Given the description of an element on the screen output the (x, y) to click on. 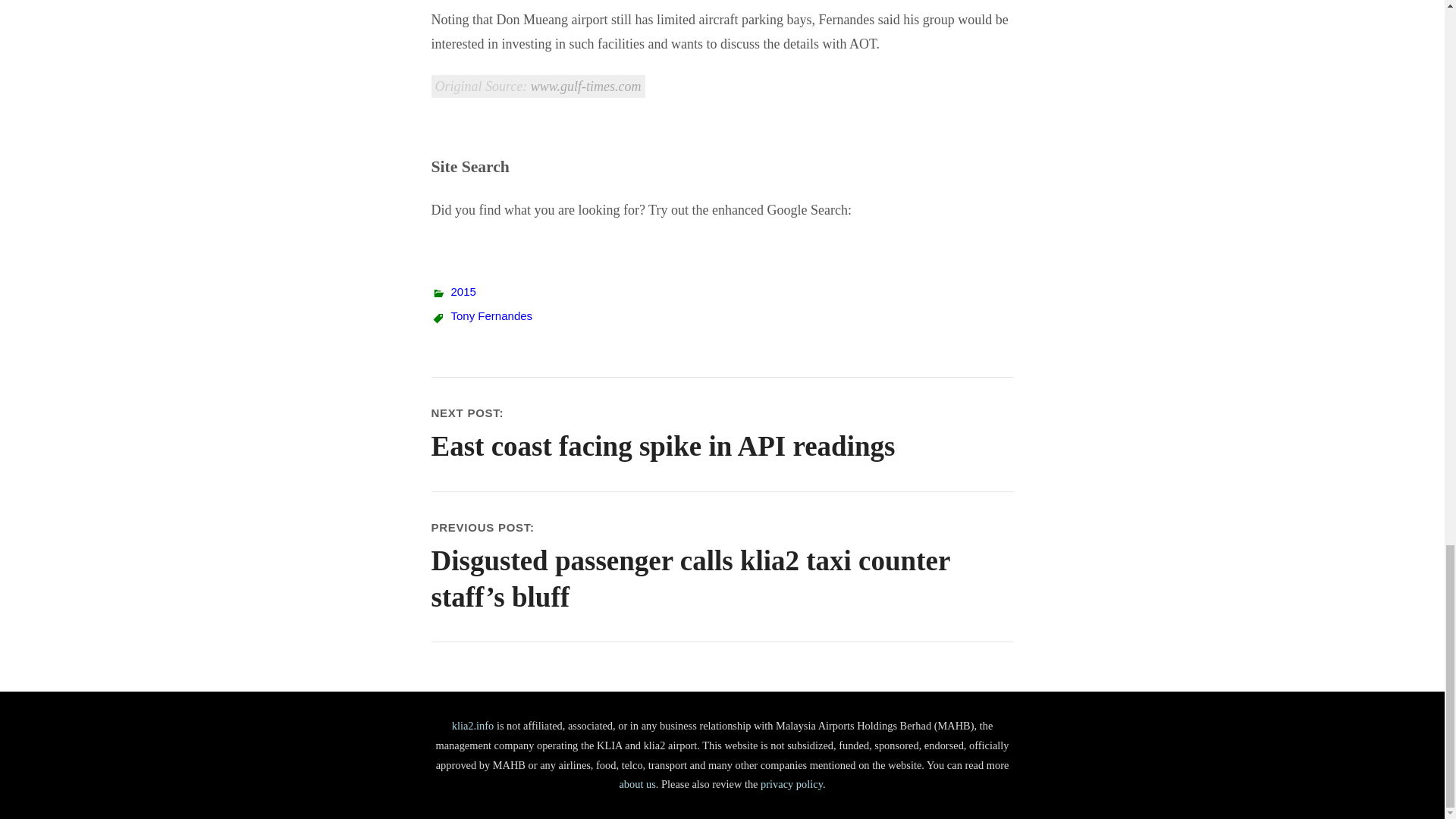
2015 (462, 291)
privacy policy (791, 784)
www.gulf-times.com (586, 86)
klia2.info (473, 725)
Tony Fernandes (490, 315)
about us (636, 784)
